Given the description of an element on the screen output the (x, y) to click on. 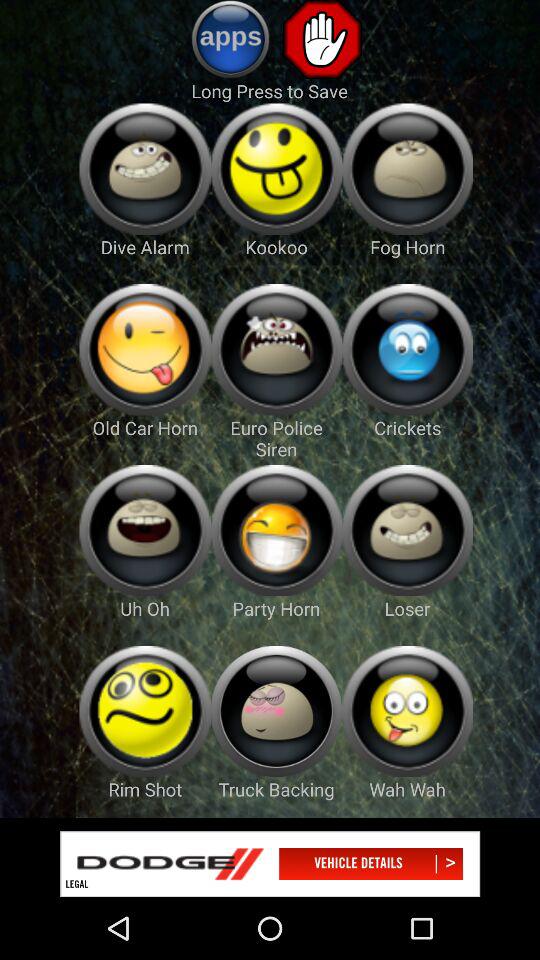
select an option (276, 168)
